Given the description of an element on the screen output the (x, y) to click on. 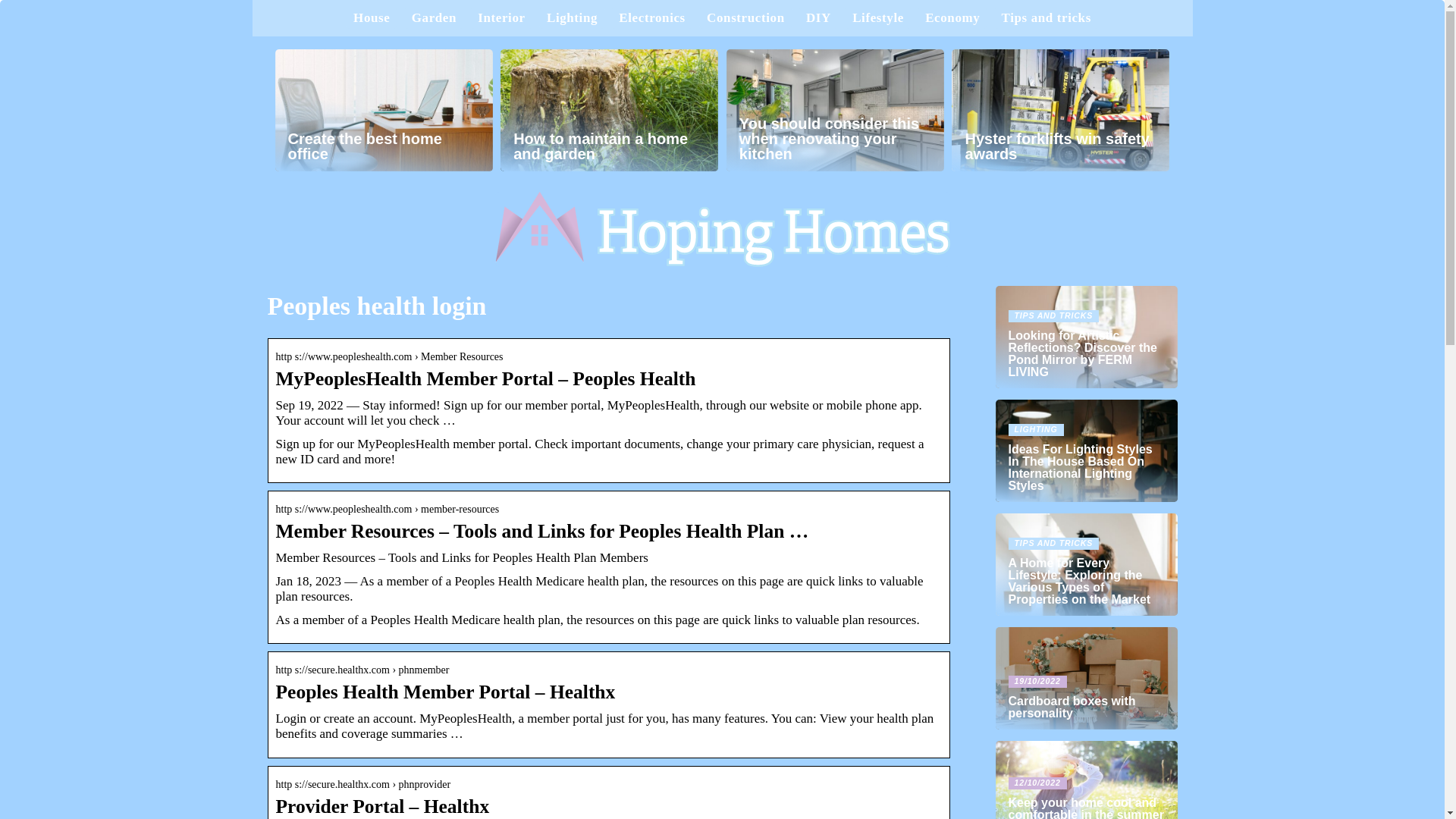
Tips and tricks (1045, 17)
House (371, 17)
Create the best home office (383, 110)
How to maintain a home and garden (608, 110)
Hyster forklifts win safety awards (1060, 110)
Interior (500, 17)
Garden (434, 17)
Electronics (651, 17)
Economy (951, 17)
Construction (745, 17)
Lifestyle (877, 17)
DIY (818, 17)
Lighting (571, 17)
